Given the description of an element on the screen output the (x, y) to click on. 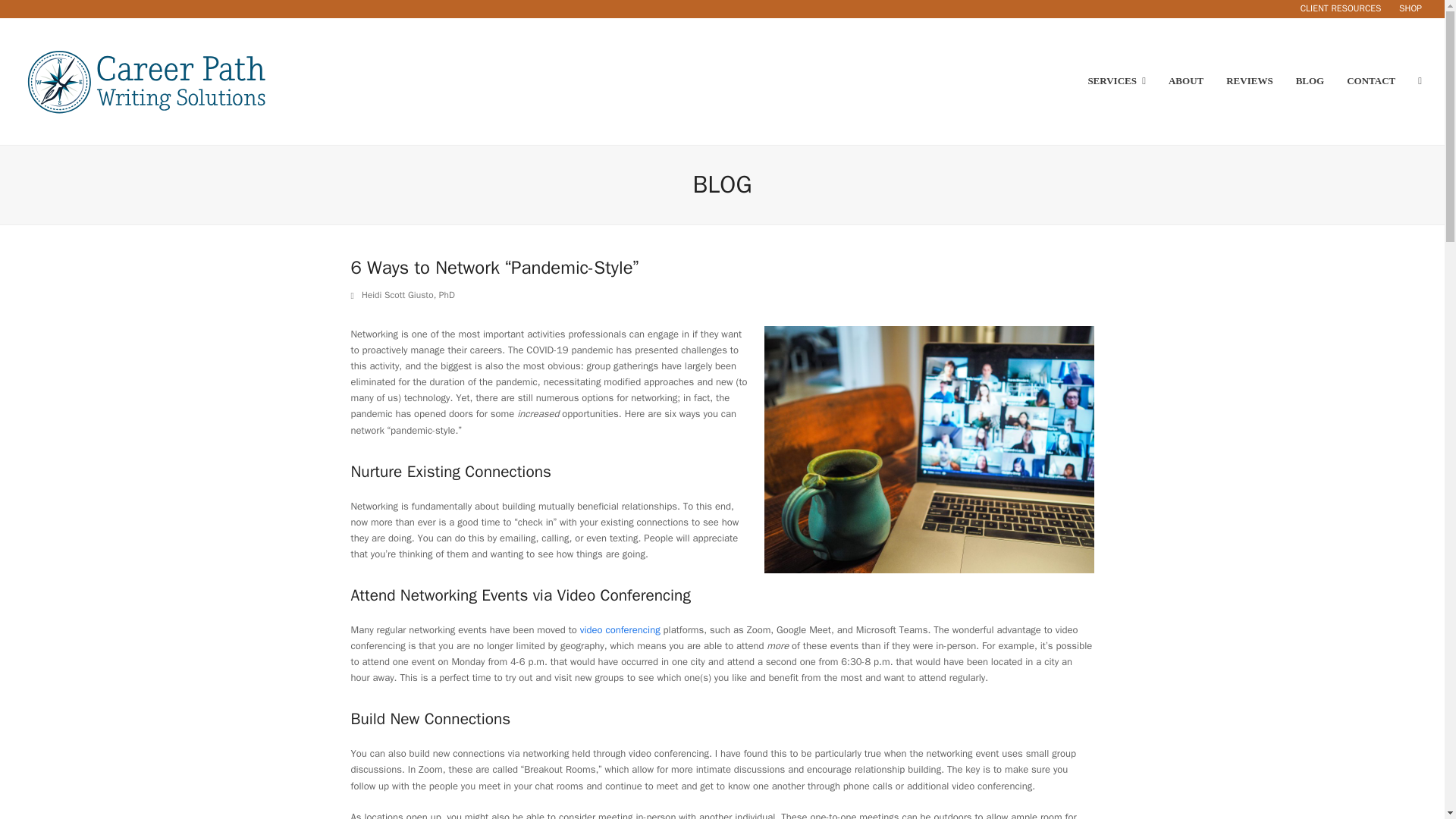
SHOP (1410, 8)
CLIENT RESOURCES (1340, 8)
Heidi Scott Giusto, PhD (407, 295)
Posts by Heidi Scott Giusto, PhD (407, 295)
video conferencing (620, 629)
